Given the description of an element on the screen output the (x, y) to click on. 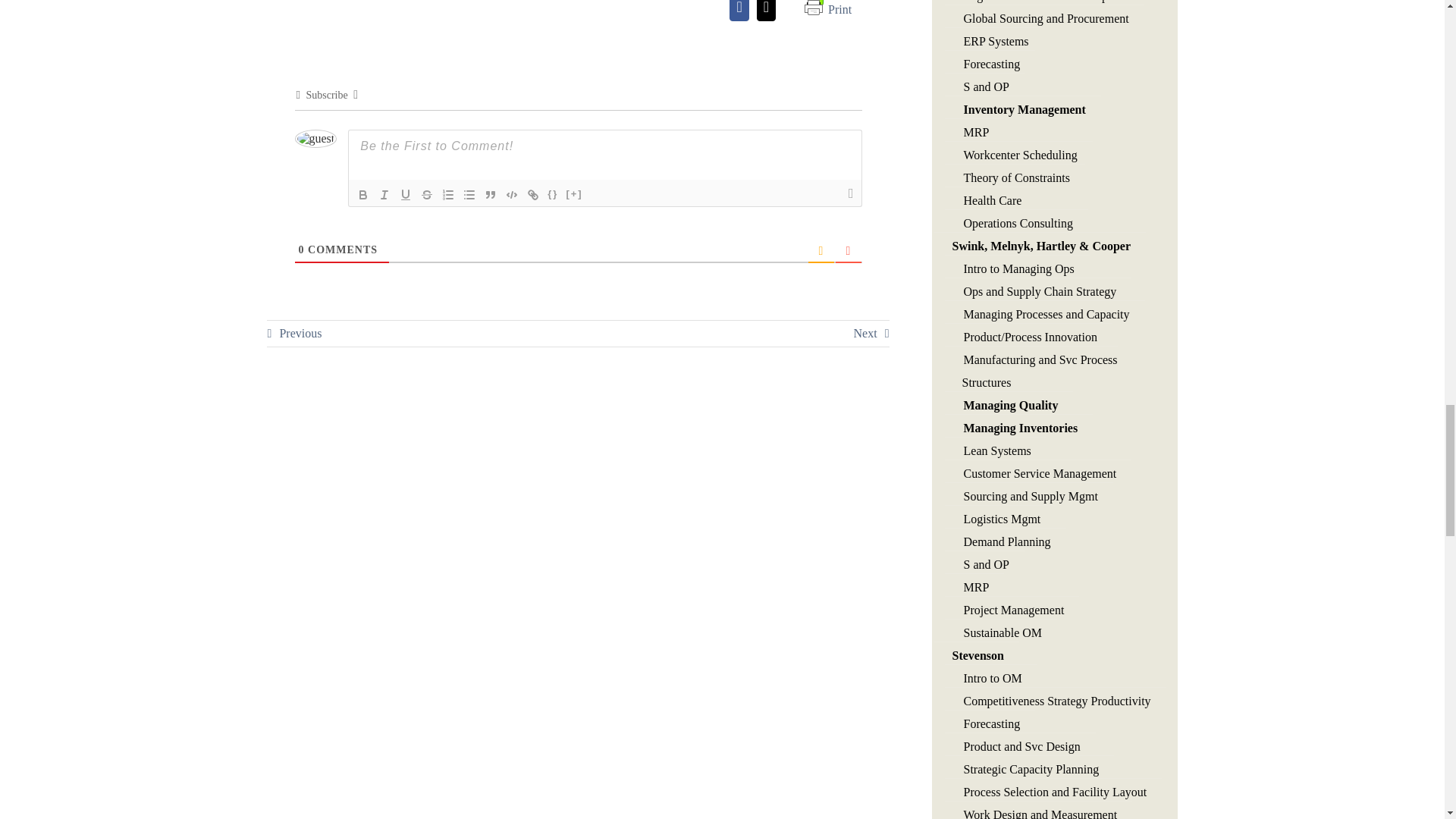
Unordered List (469, 194)
Underline (405, 194)
Strike (427, 194)
Blockquote (490, 194)
Italic (384, 194)
Bold (363, 194)
Ordered List (448, 194)
